Given the description of an element on the screen output the (x, y) to click on. 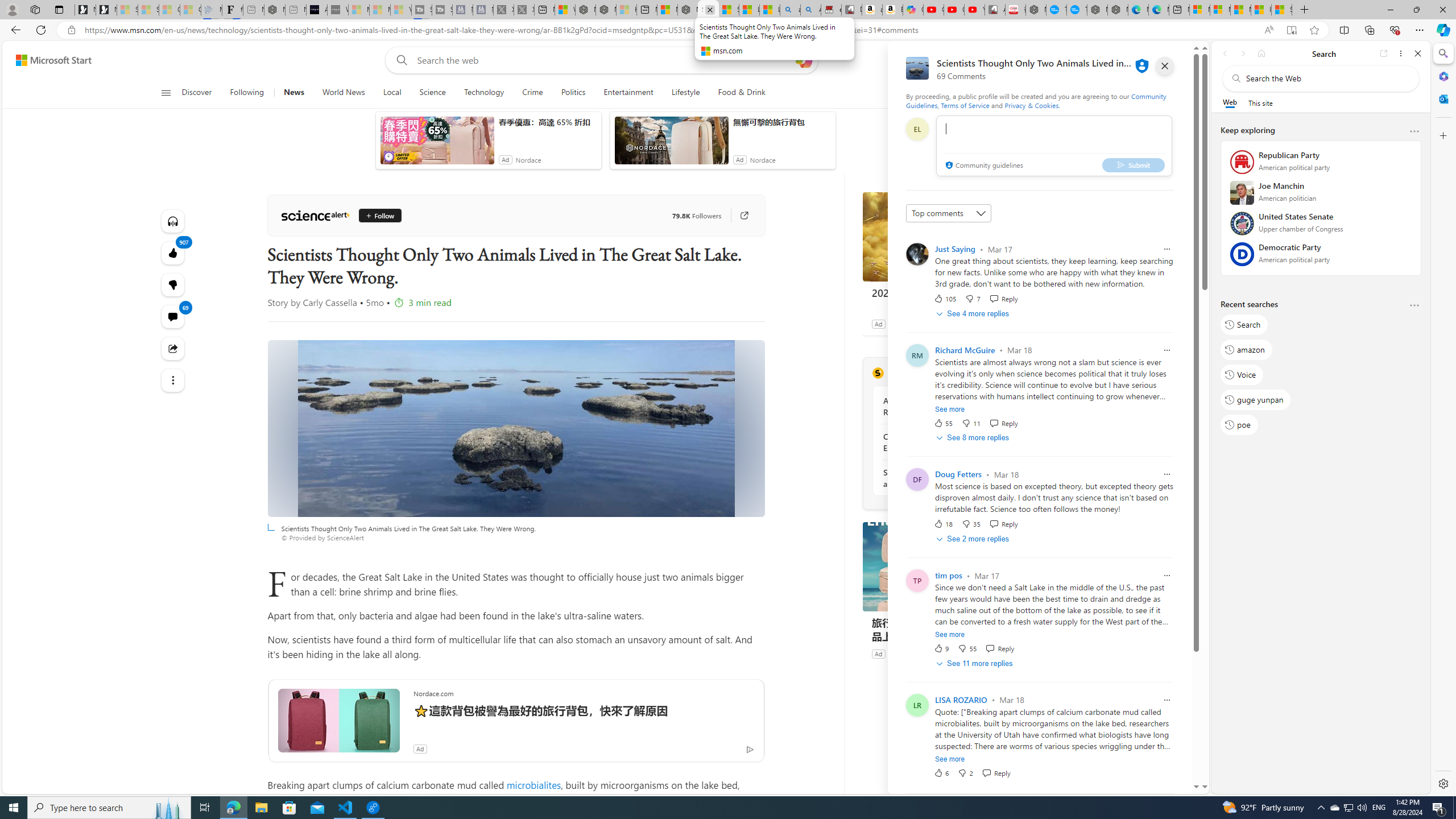
Read aloud this page (Ctrl+Shift+U) (1268, 29)
Follow (378, 215)
Customize (1442, 135)
See 11 more replies (975, 663)
Politics (573, 92)
Doug Fetters (958, 474)
Reply Reply Comment (995, 772)
Recent searchesSearchamazonVoiceguge yunpanpoe (1320, 369)
Discover (197, 92)
Minimize (1390, 9)
Community guidelines (983, 165)
Nordace - #1 Japanese Best-Seller - Siena Smart Backpack (274, 9)
